Given the description of an element on the screen output the (x, y) to click on. 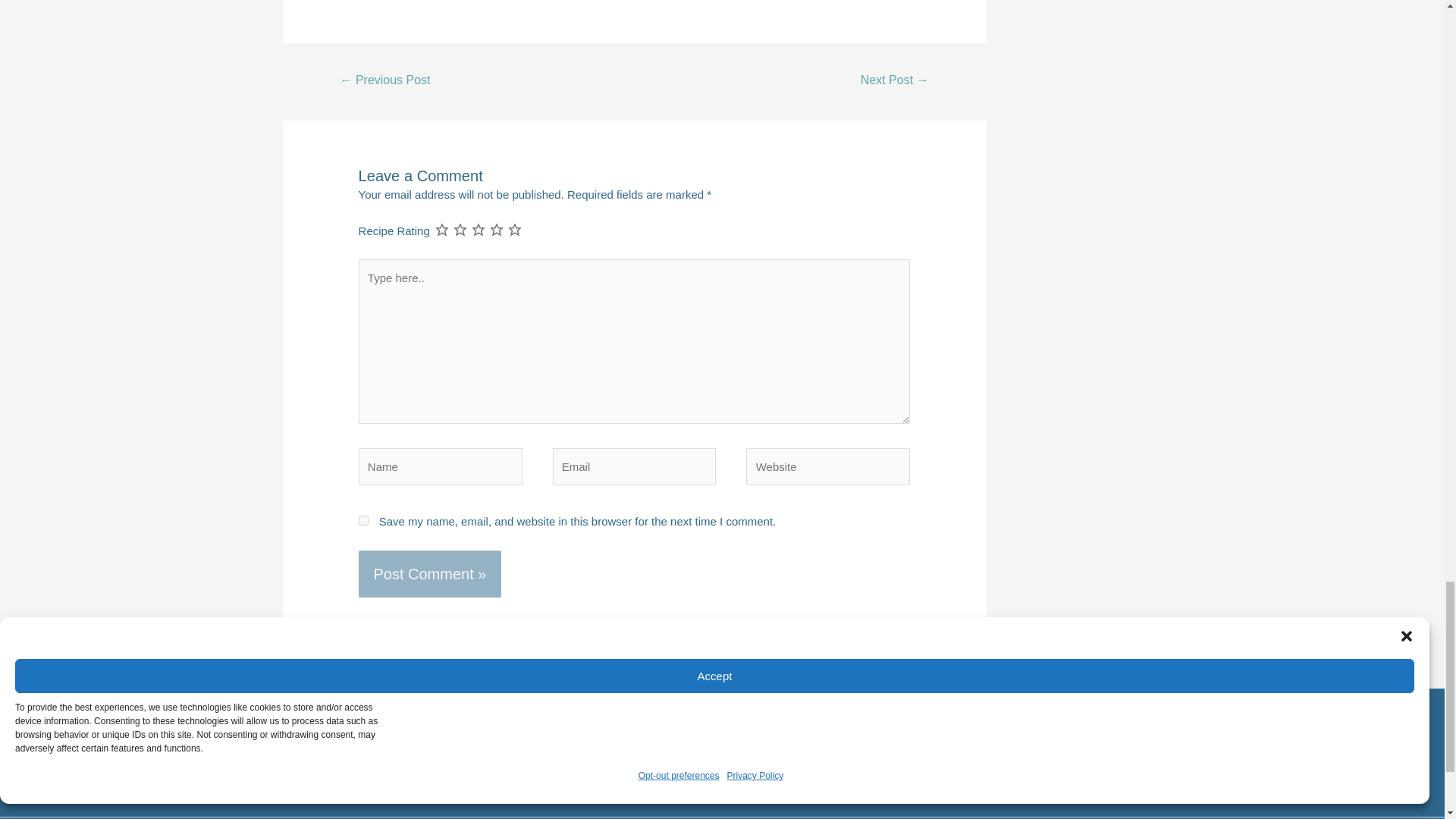
International Formula Comparison (384, 81)
Tips to Stop Food Throwing (895, 81)
yes (363, 520)
